Given the description of an element on the screen output the (x, y) to click on. 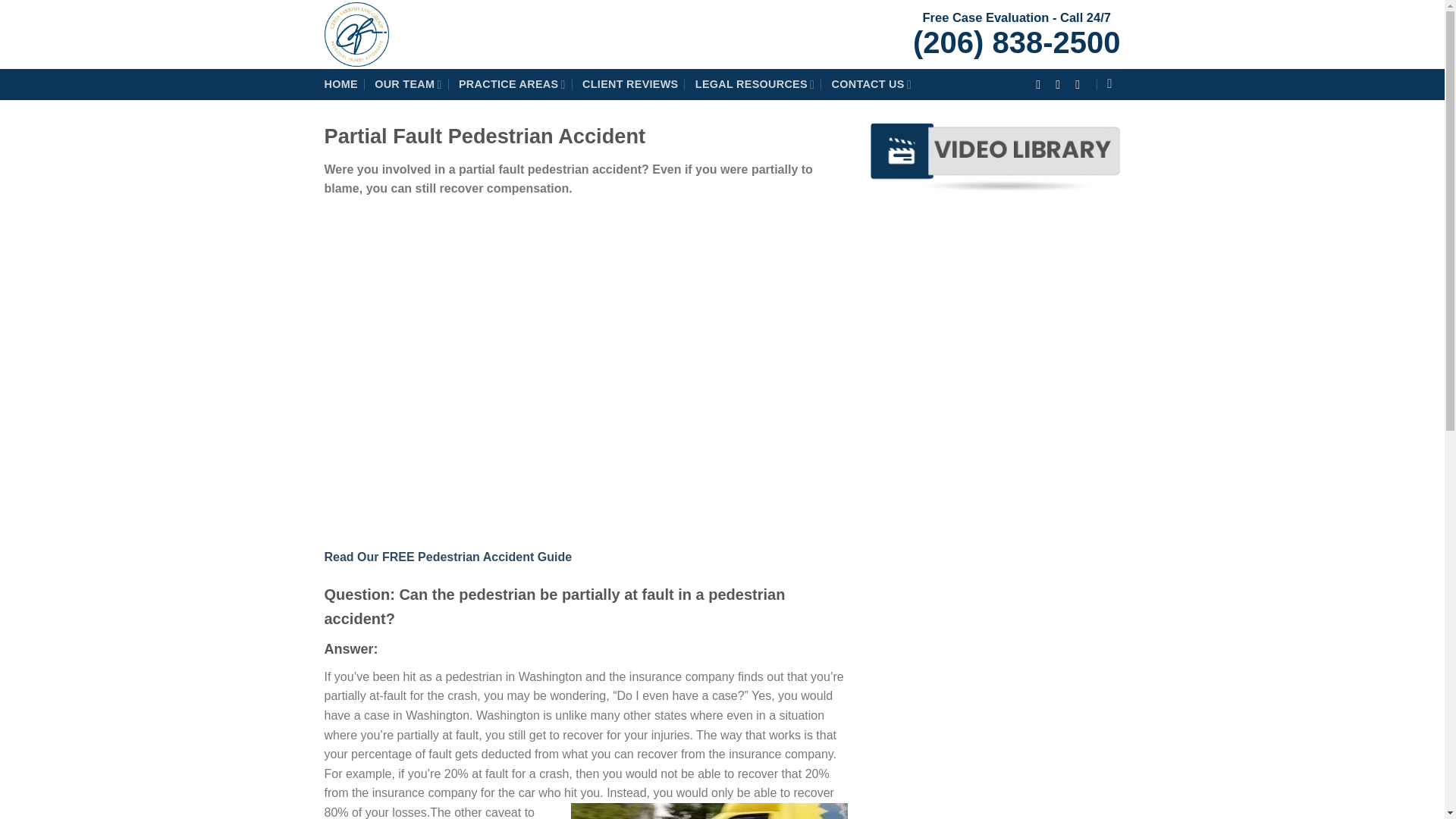
CLIENT REVIEWS (630, 83)
LEGAL RESOURCES (754, 84)
OUR TEAM (407, 84)
PRACTICE AREAS (512, 84)
HOME (341, 83)
Edmonds Injury Lawyers - Certa Law Group (464, 34)
